Given the description of an element on the screen output the (x, y) to click on. 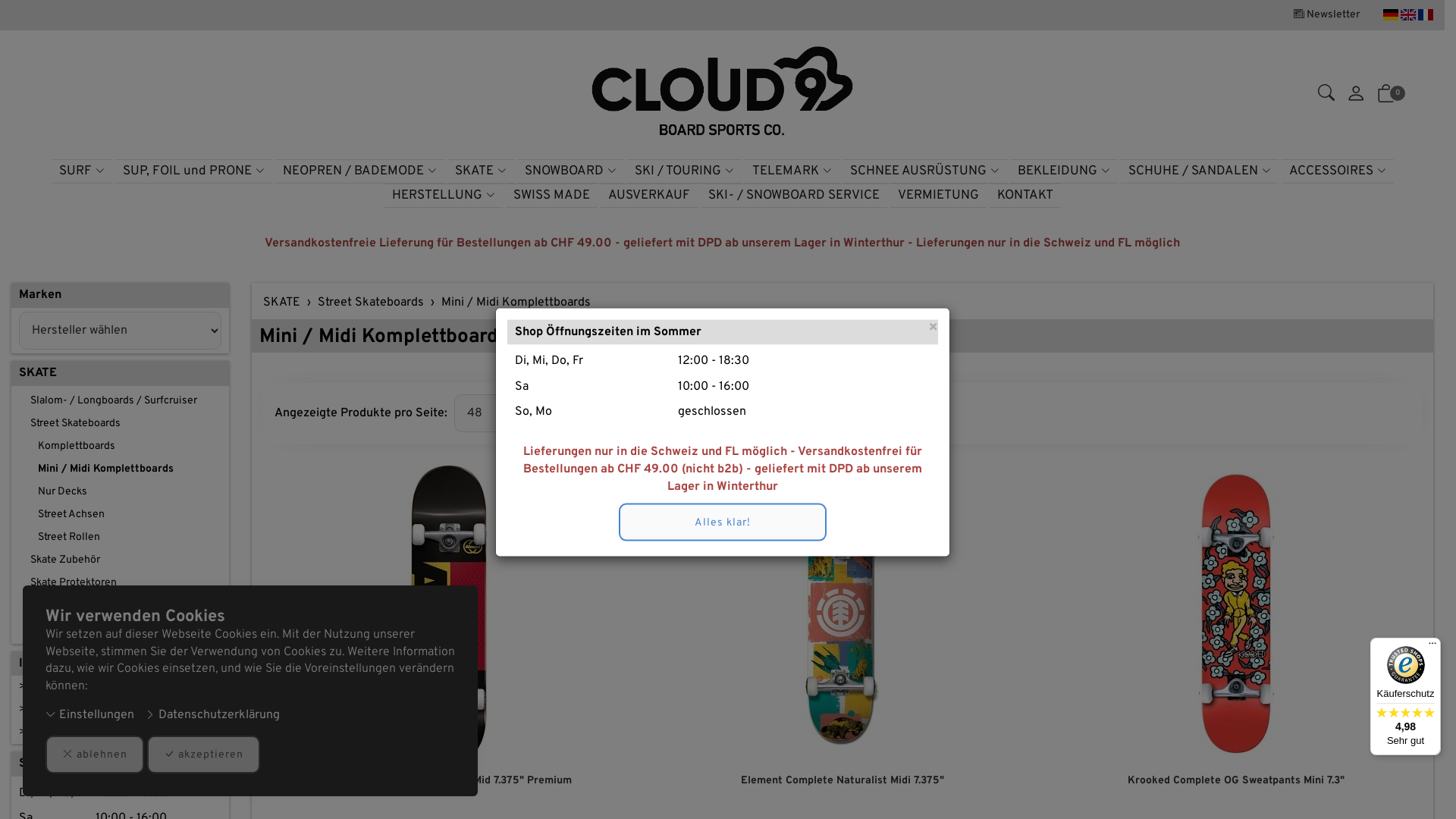
Element Complete Naturalist Midi 7.375" Element type: text (842, 780)
VERMIETUNG Element type: text (60, 708)
SKI / TOURING Element type: text (683, 171)
SKI- / SNOWBOARD SERVICE Element type: text (793, 195)
SKATE Element type: text (281, 302)
SKI- / SNOWBOARD SERVICE Element type: text (98, 686)
English Element type: hover (1407, 14)
Alles klar! Element type: text (722, 521)
KONTAKT Element type: text (51, 731)
SUP, FOIL und PRONE Element type: text (193, 171)
TELEMARK Element type: text (791, 171)
Street Skateboards Element type: text (119, 423)
Krooked Complete OG Sweatpants Mini 7.3" Element type: text (1235, 780)
SURF Element type: text (81, 171)
Street Skateboards Element type: text (370, 302)
VERMIETUNG Element type: text (938, 195)
KONTAKT Element type: text (1024, 195)
SKATE Element type: text (37, 372)
SCHUHE / SANDALEN Element type: text (1199, 171)
NEOPREN / BADEMODE Element type: text (358, 171)
Mini / Midi Komplettboards Element type: text (383, 336)
Almost Complete Ivy League Mid 7.375" Premium Element type: text (448, 780)
ablehnen Element type: text (94, 754)
akzeptieren Element type: text (203, 754)
0 Element type: text (1386, 97)
Komplettboards Element type: text (119, 446)
Skate Protektoren Element type: text (119, 582)
Finger Boards Element type: text (119, 628)
Street Rollen Element type: text (119, 537)
SNOWBOARD Element type: text (570, 171)
Mini / Midi Komplettboards Element type: text (515, 302)
Newsletter Element type: text (1326, 14)
Einstellungen Element type: text (89, 715)
Mein Konto Element type: hover (1355, 97)
HERSTELLUNG Element type: text (442, 195)
Slalom- / Longboards / Surfcruiser Element type: text (119, 400)
ACCESSOIRES Element type: text (1337, 171)
Suche Element type: hover (1325, 96)
BEKLEIDUNG Element type: text (1063, 171)
Balance Boards Element type: text (119, 605)
Deutsch Element type: hover (1390, 14)
AUSVERKAUF Element type: text (648, 195)
Nur Decks Element type: text (119, 491)
SWISS MADE Element type: text (550, 195)
SKATE Element type: text (480, 171)
Street Achsen Element type: text (119, 514)
Mini / Midi Komplettboards Element type: text (119, 469)
